Given the description of an element on the screen output the (x, y) to click on. 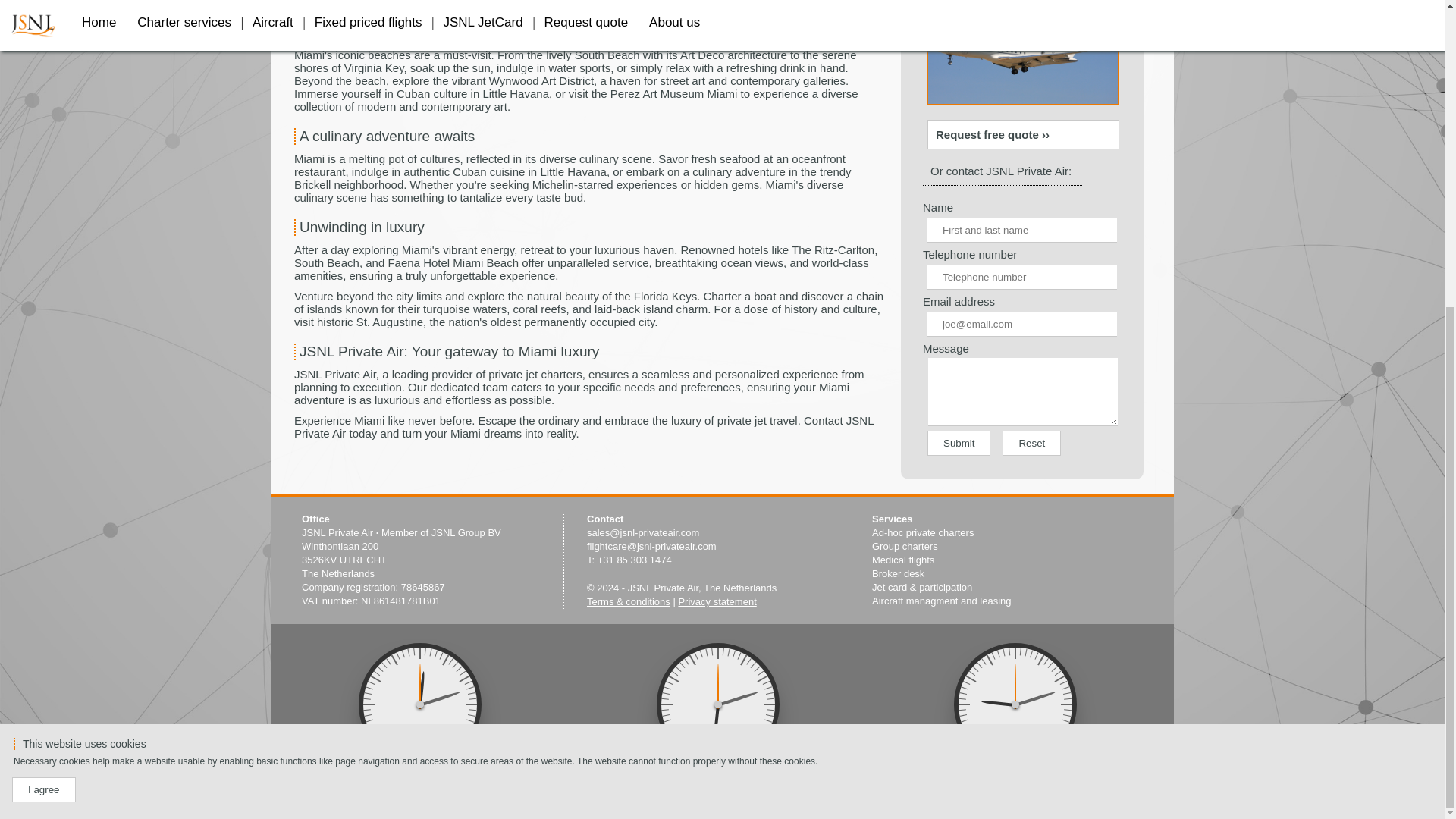
I agree (43, 306)
Reset (1032, 442)
Submit (958, 442)
I agree (43, 306)
Reset (1032, 442)
Submit (958, 442)
Privacy statement (716, 600)
